Given the description of an element on the screen output the (x, y) to click on. 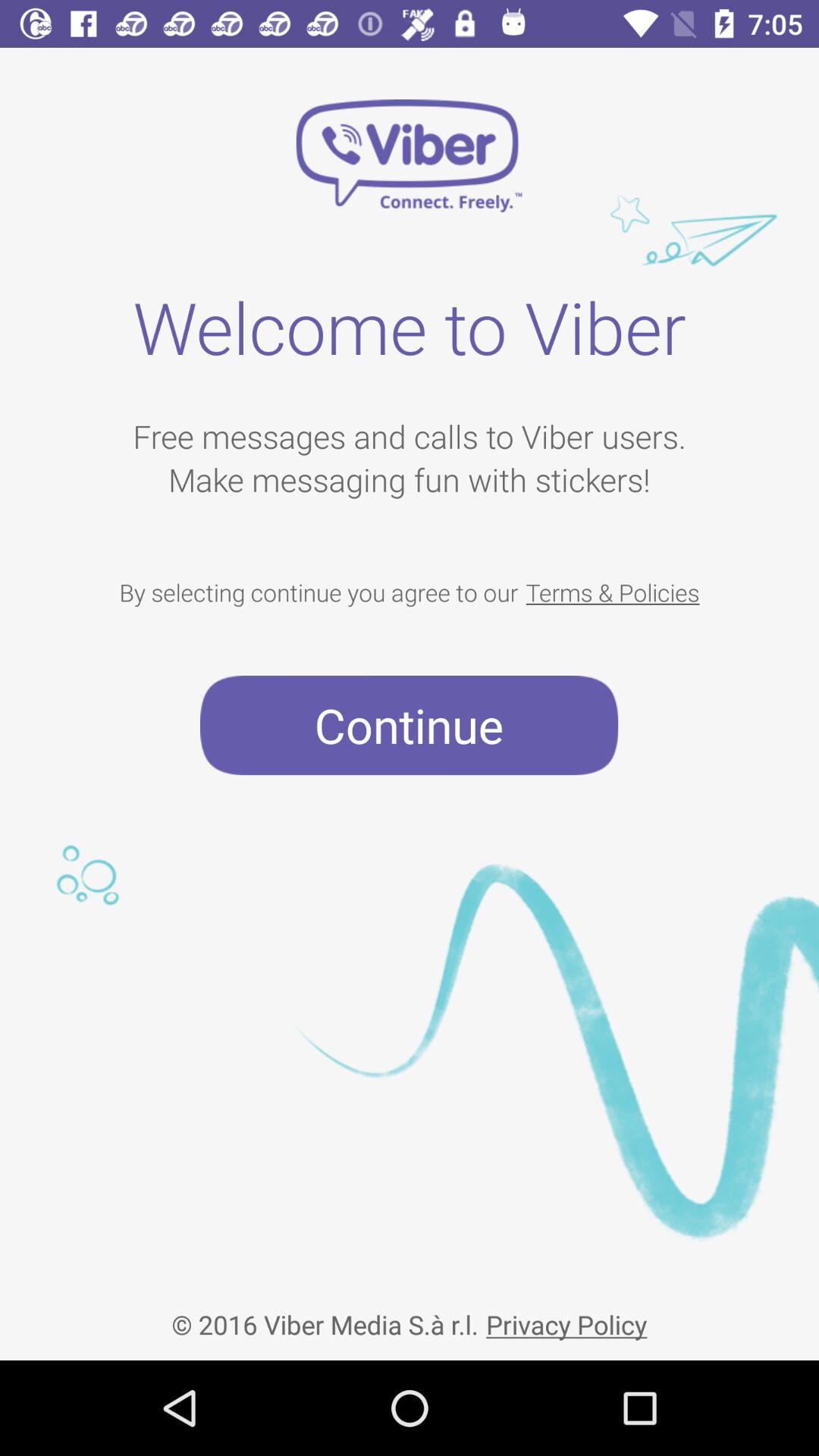
scroll to the privacy policy (566, 1312)
